Given the description of an element on the screen output the (x, y) to click on. 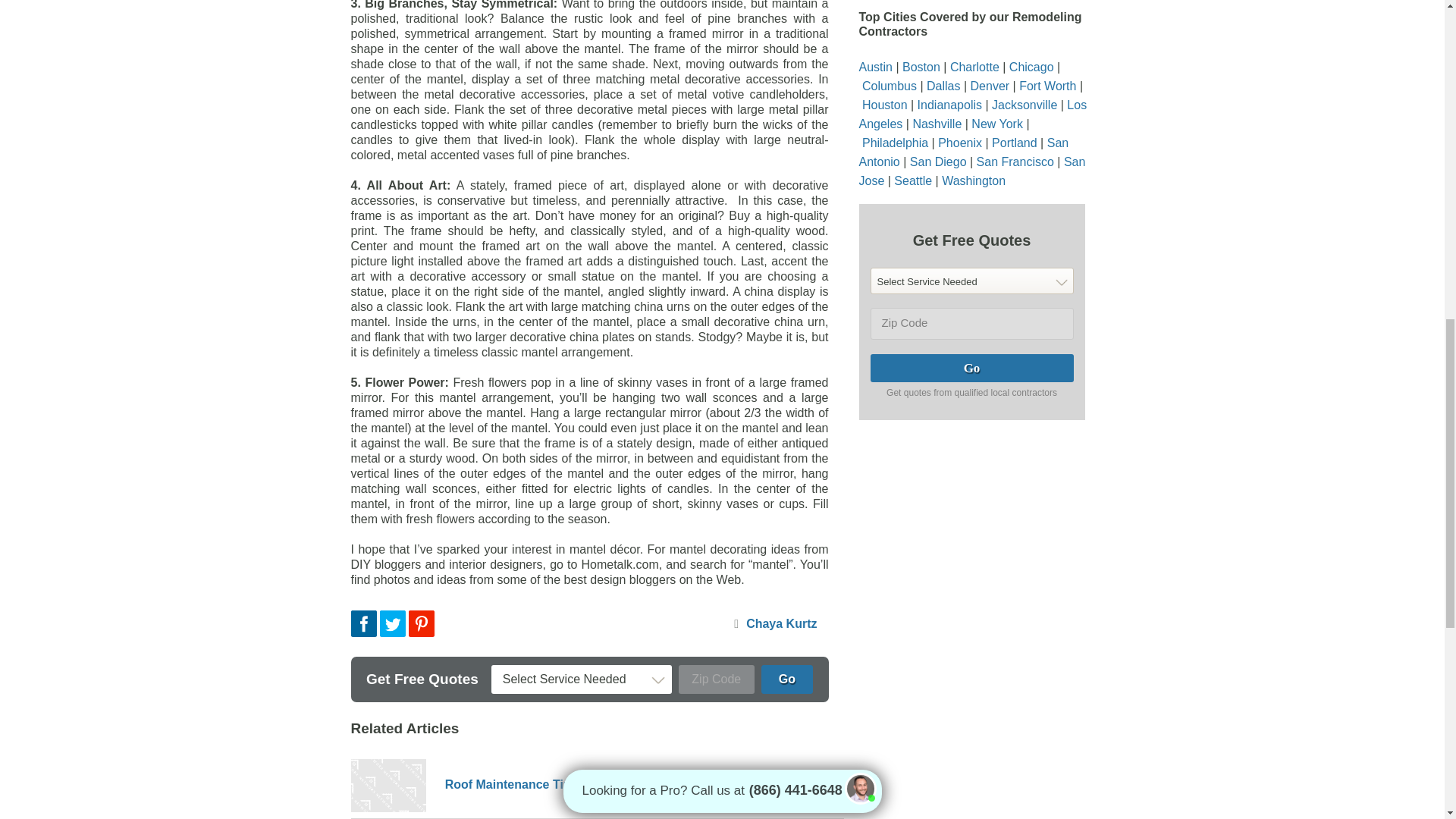
Go (786, 679)
Go (972, 367)
